Given the description of an element on the screen output the (x, y) to click on. 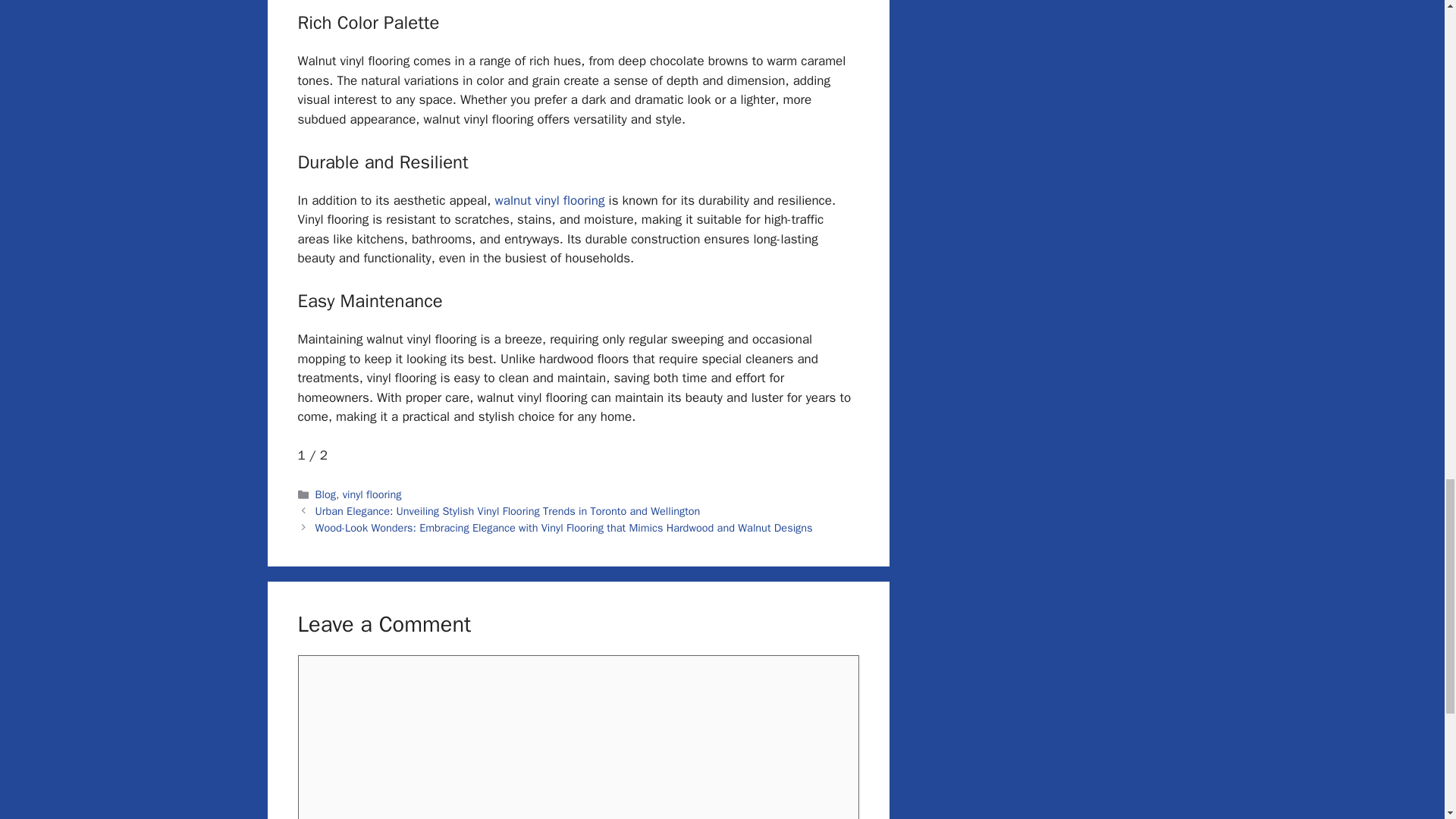
walnut vinyl flooring (550, 200)
vinyl flooring (371, 494)
Blog (325, 494)
